Given the description of an element on the screen output the (x, y) to click on. 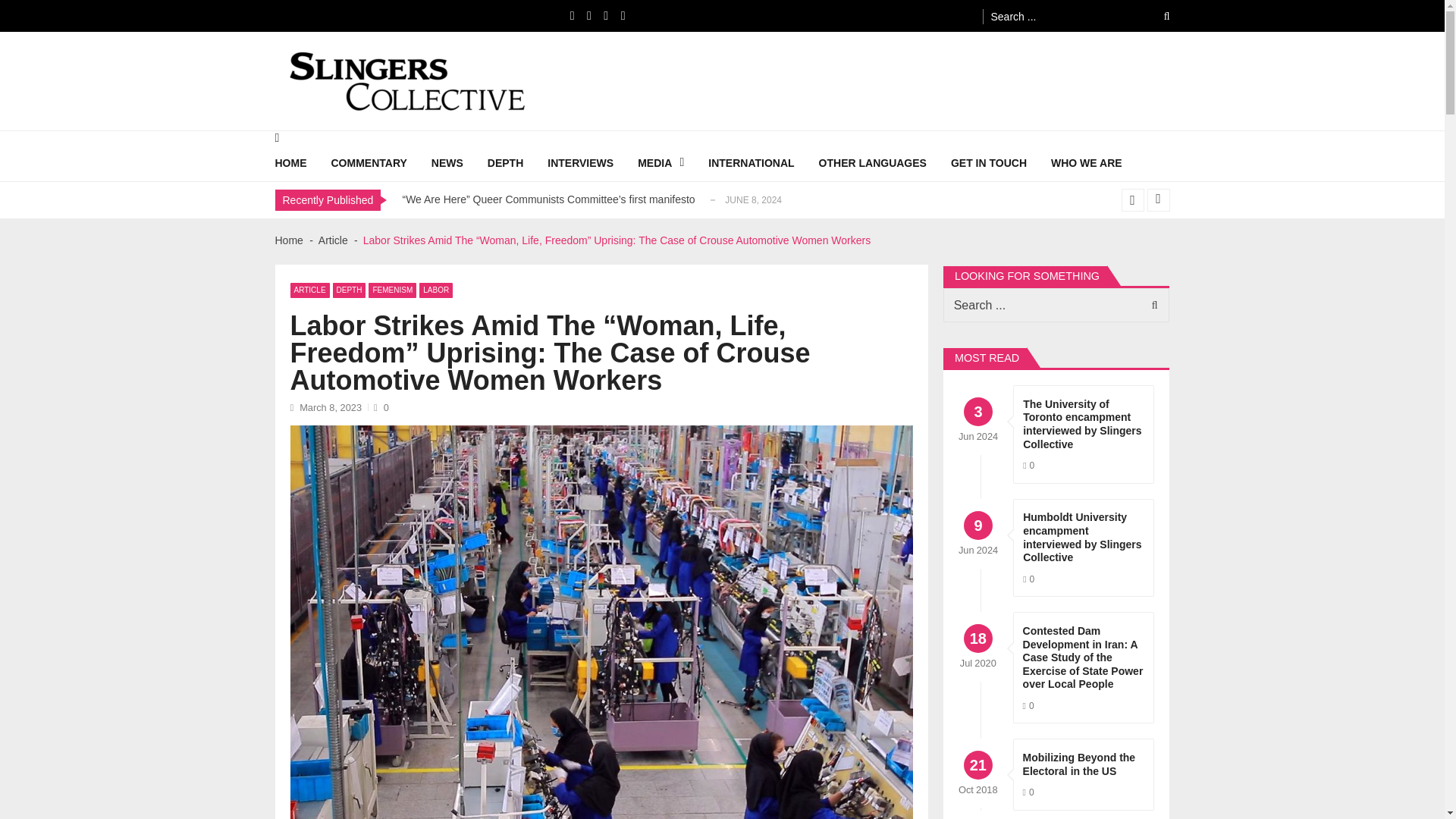
INTERVIEWS (592, 162)
Search (1156, 15)
HOME (302, 162)
MEDIA (672, 162)
Search (1156, 15)
Slingers.Collective (343, 123)
OTHER LANGUAGES (884, 162)
NEWS (458, 162)
DEPTH (517, 162)
Search (1156, 15)
COMMENTARY (380, 162)
INTERNATIONAL (762, 162)
GET IN TOUCH (1000, 162)
Search (1150, 305)
Search (1150, 305)
